Given the description of an element on the screen output the (x, y) to click on. 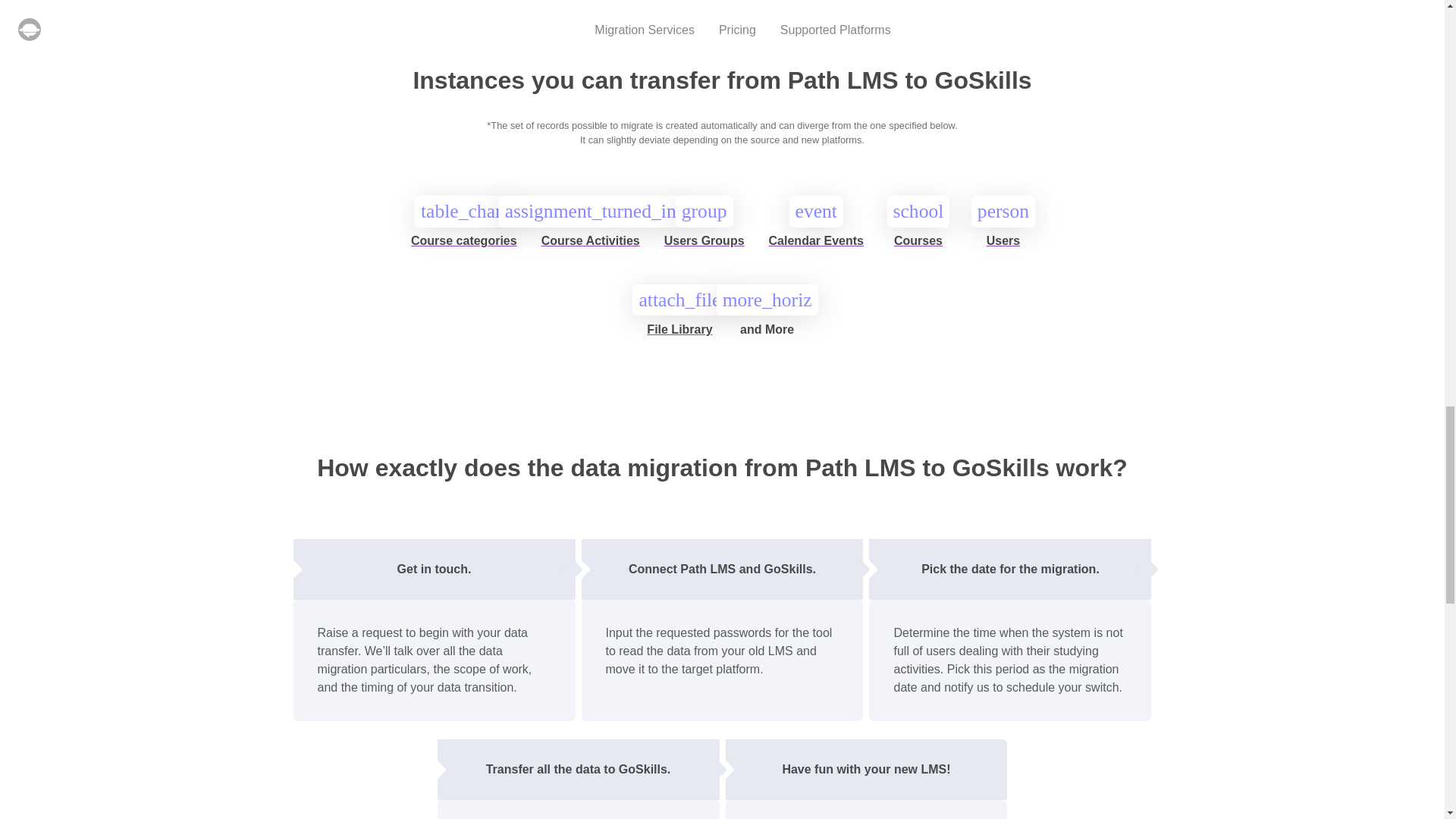
Users (1003, 247)
Courses (917, 247)
Calendar Events (815, 247)
Course Activities (590, 247)
File Library (678, 335)
Course categories (463, 247)
Users Groups (703, 247)
